Given the description of an element on the screen output the (x, y) to click on. 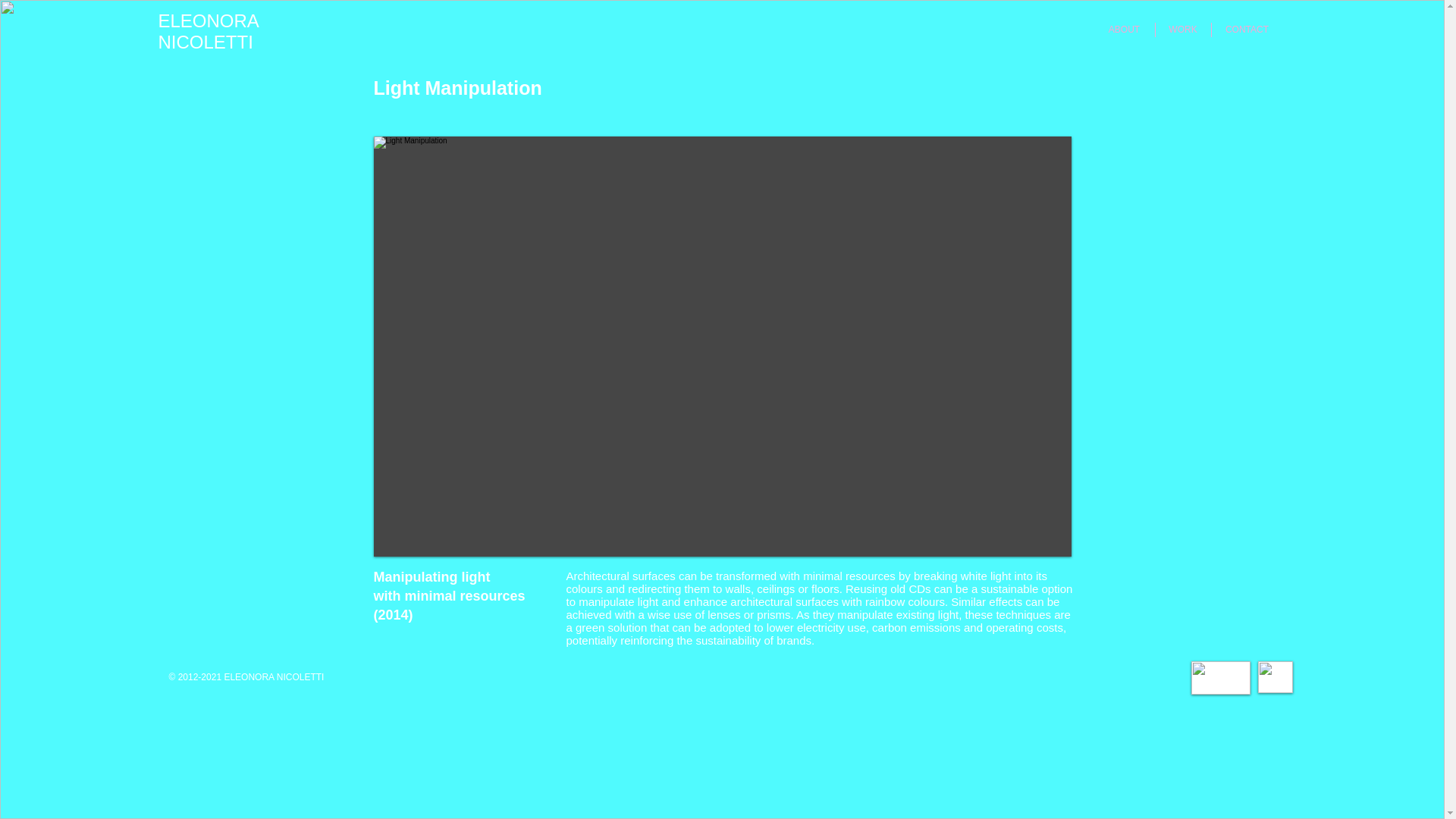
ABOUT (1123, 29)
Pin to Pinterest (1059, 87)
CONTACT (1246, 29)
